Given the description of an element on the screen output the (x, y) to click on. 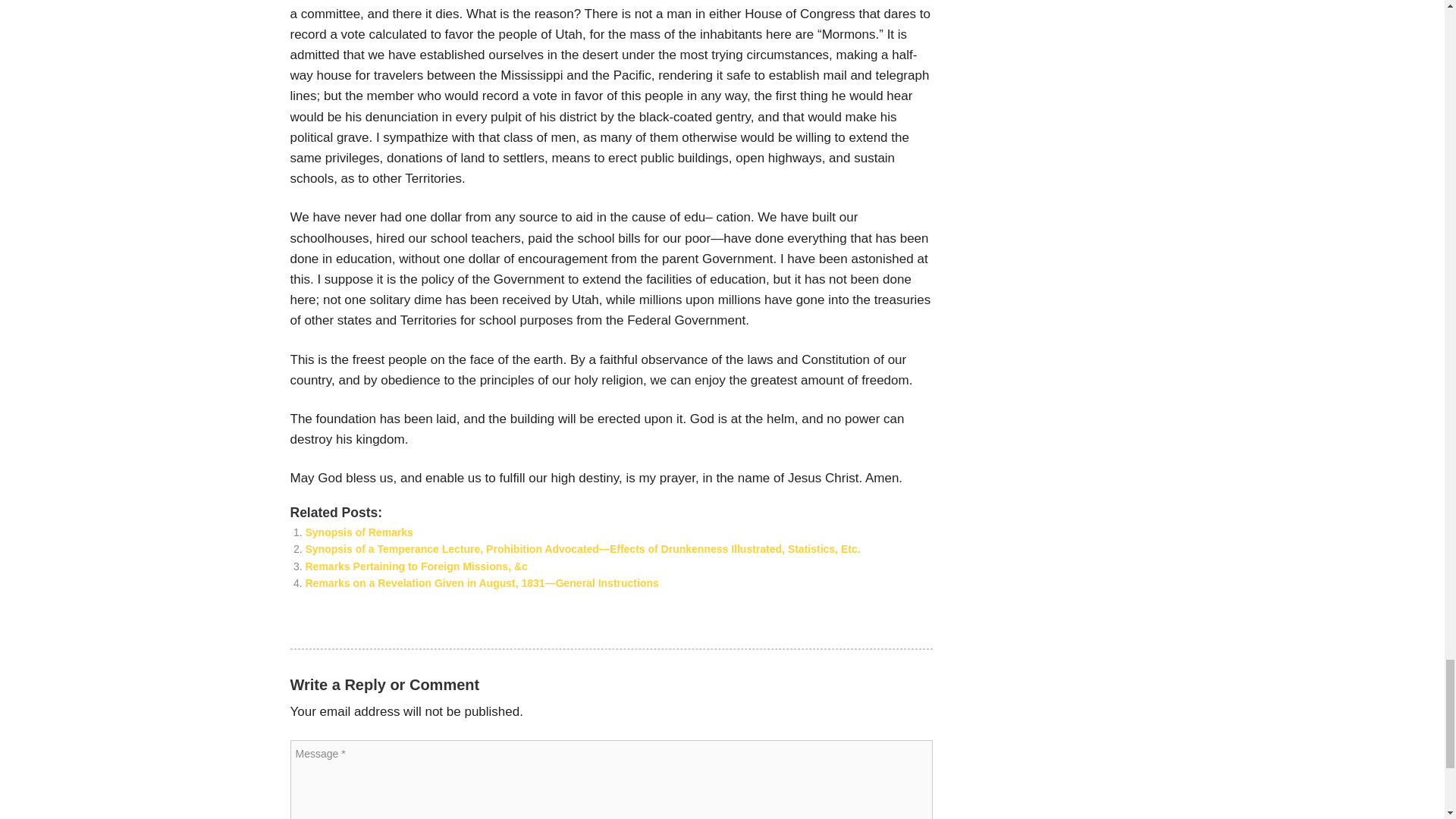
Synopsis of Remarks (358, 532)
